Given the description of an element on the screen output the (x, y) to click on. 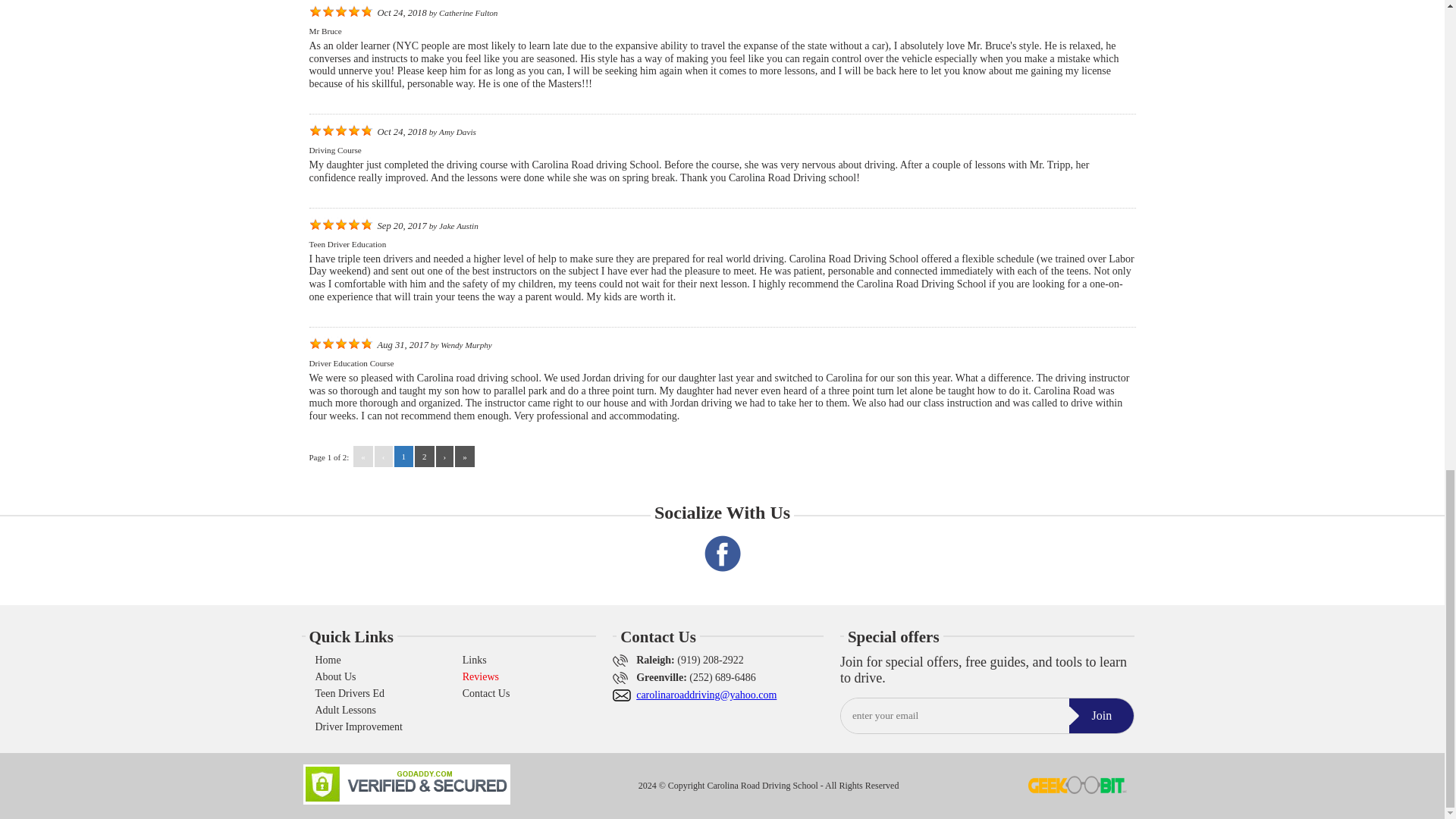
Adult Lessons (346, 710)
Driver Improvement (359, 727)
About Us (335, 676)
Contact Us (487, 693)
Reviews (481, 676)
Teen Drivers Ed (350, 693)
Home (327, 660)
Join (1101, 715)
Links (474, 660)
Join (1101, 715)
